Given the description of an element on the screen output the (x, y) to click on. 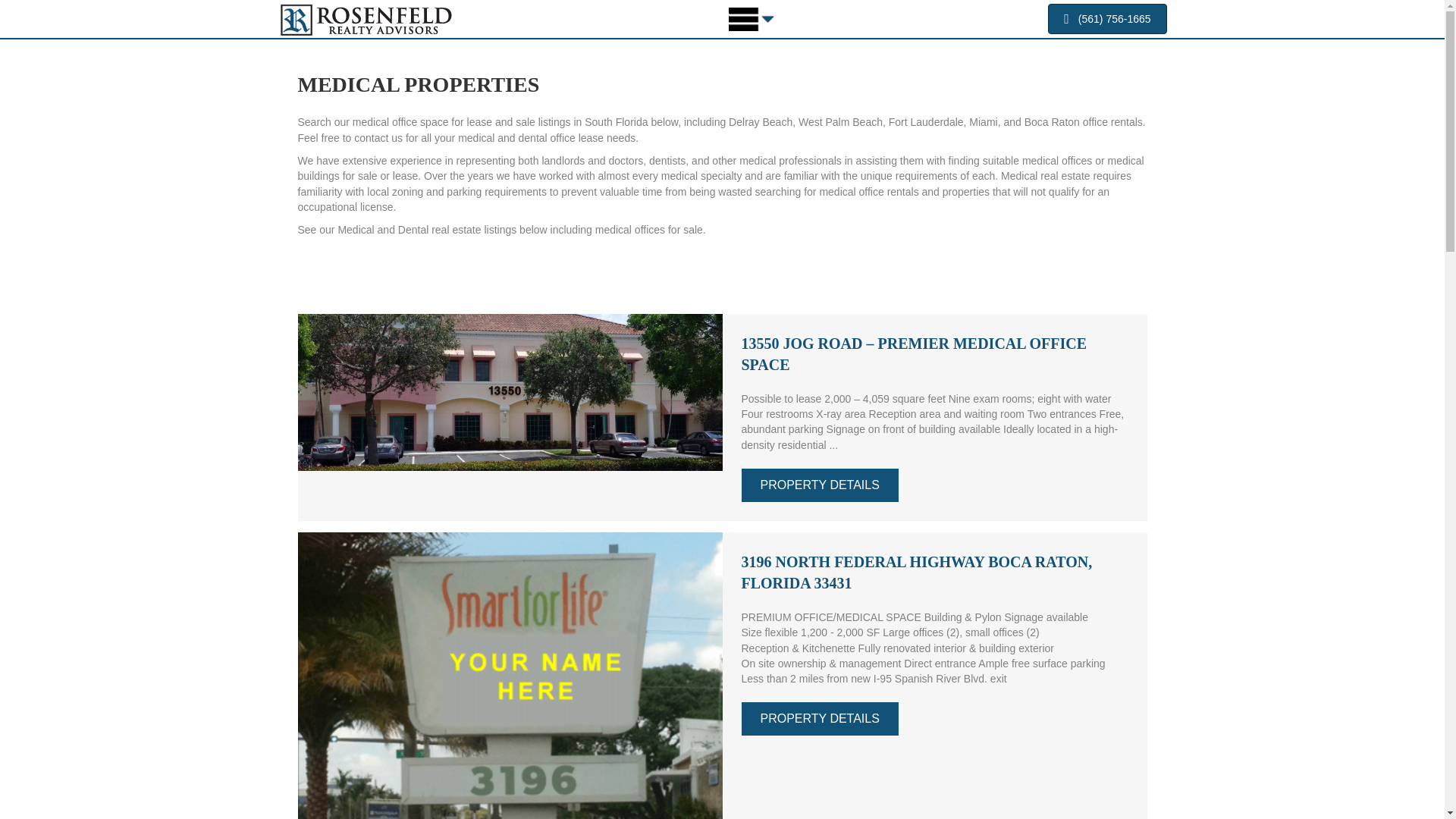
rosenfeld logo horizontal (365, 20)
